Given the description of an element on the screen output the (x, y) to click on. 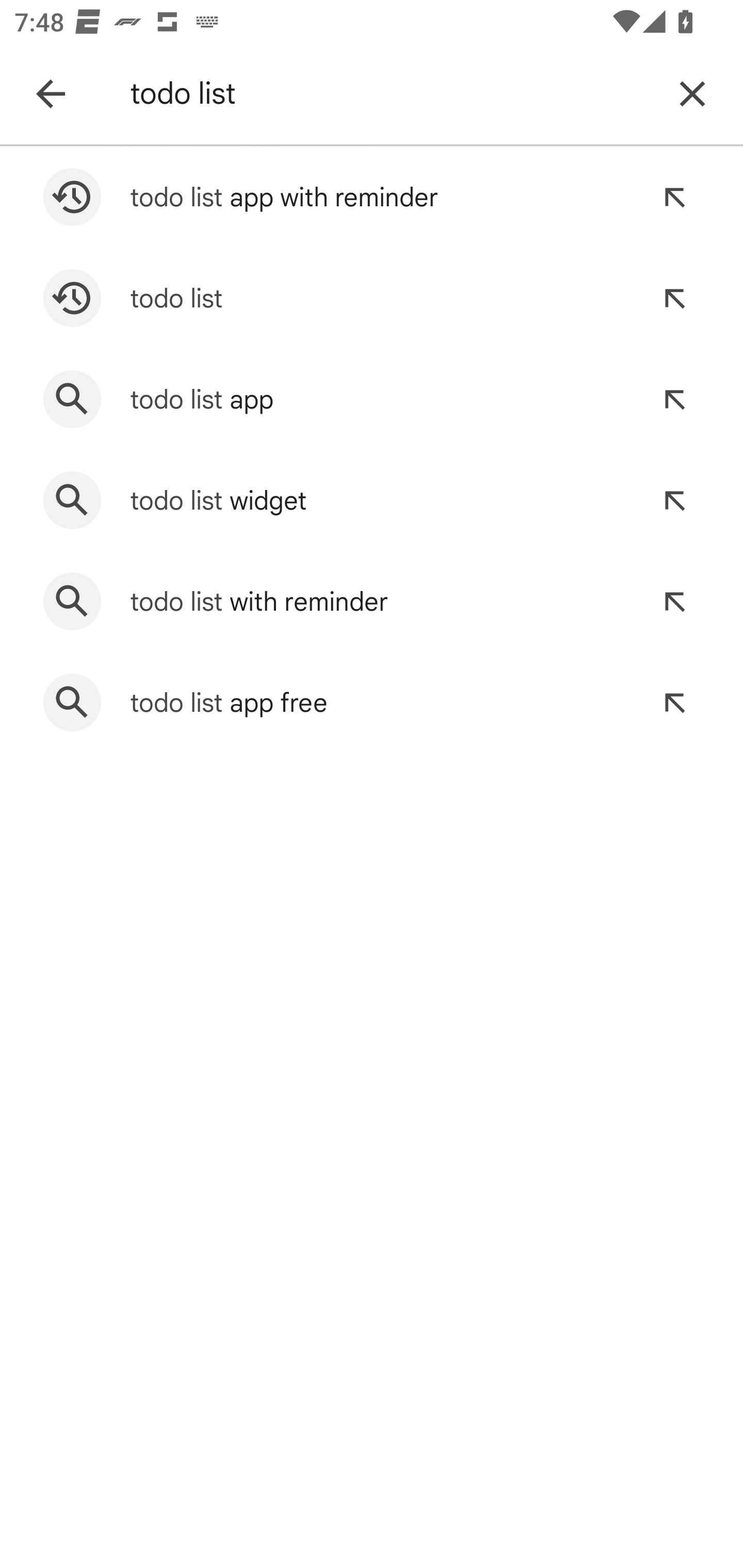
Navigate up (50, 93)
todo list (389, 93)
Clear (692, 93)
Refine search to "todo list app with reminder" (673, 196)
Refine search to "todo list" (673, 297)
Refine search to "todo list app" (673, 399)
Refine search to "todo list widget" (673, 500)
Refine search to "todo list with reminder" (673, 601)
Refine search to "todo list app free" (673, 702)
